Given the description of an element on the screen output the (x, y) to click on. 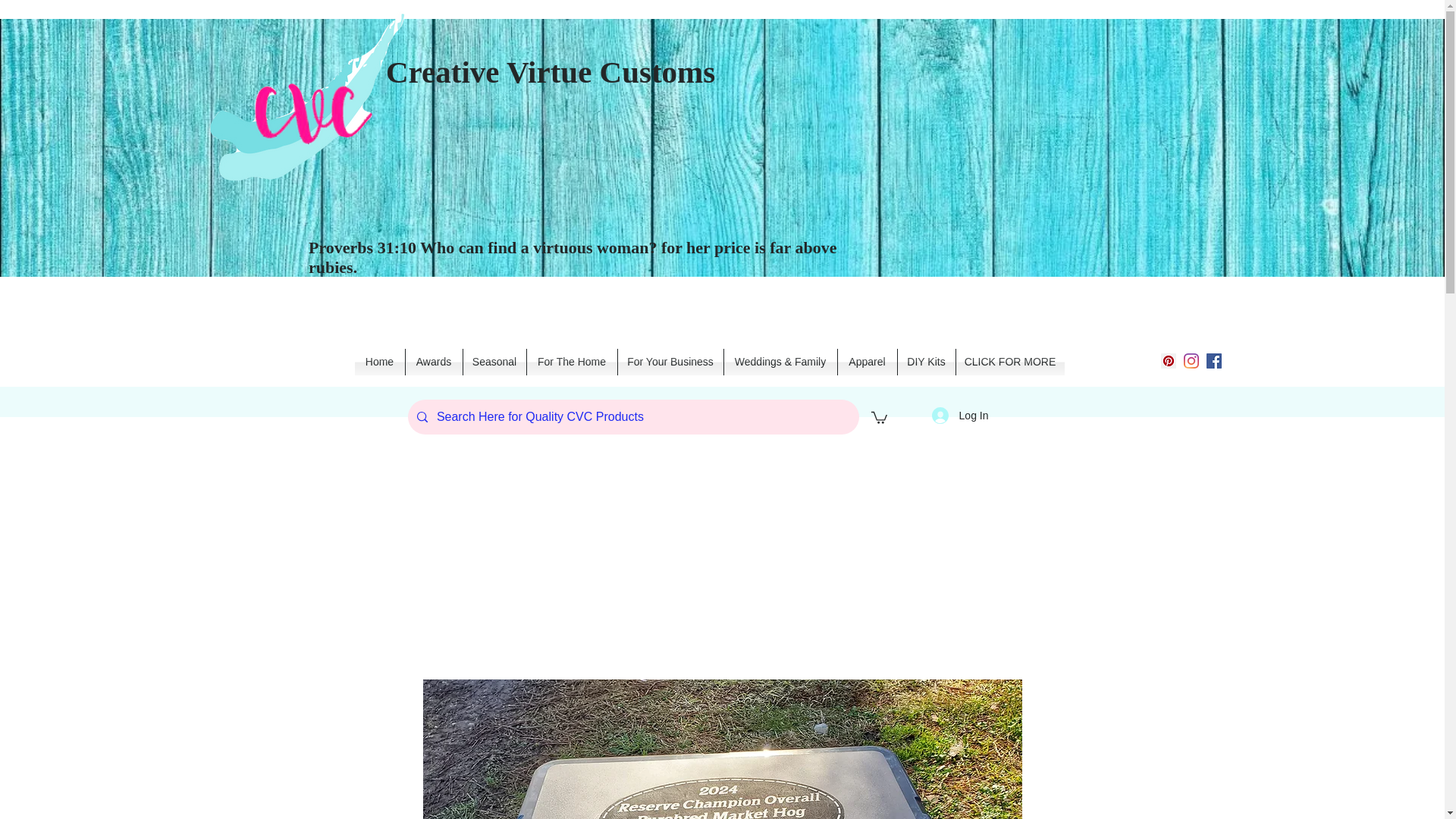
For Your Business (669, 361)
DIY Kits (926, 361)
Apparel (866, 361)
For The Home (570, 361)
Log In (959, 415)
Home (379, 361)
Seasonal (494, 361)
Creative Virtue Customs (549, 71)
Awards (432, 361)
